Given the description of an element on the screen output the (x, y) to click on. 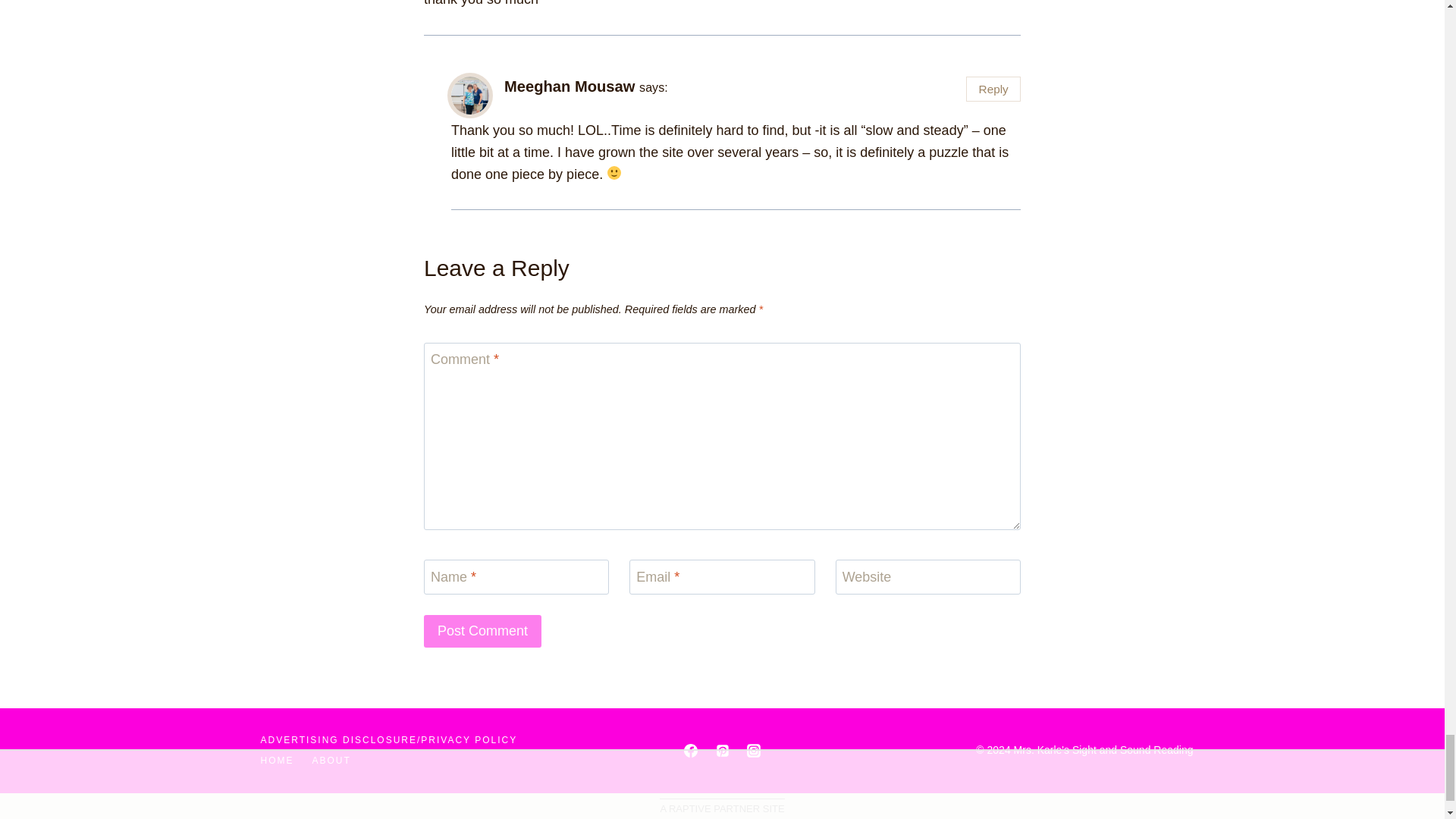
Post Comment (482, 631)
